Given the description of an element on the screen output the (x, y) to click on. 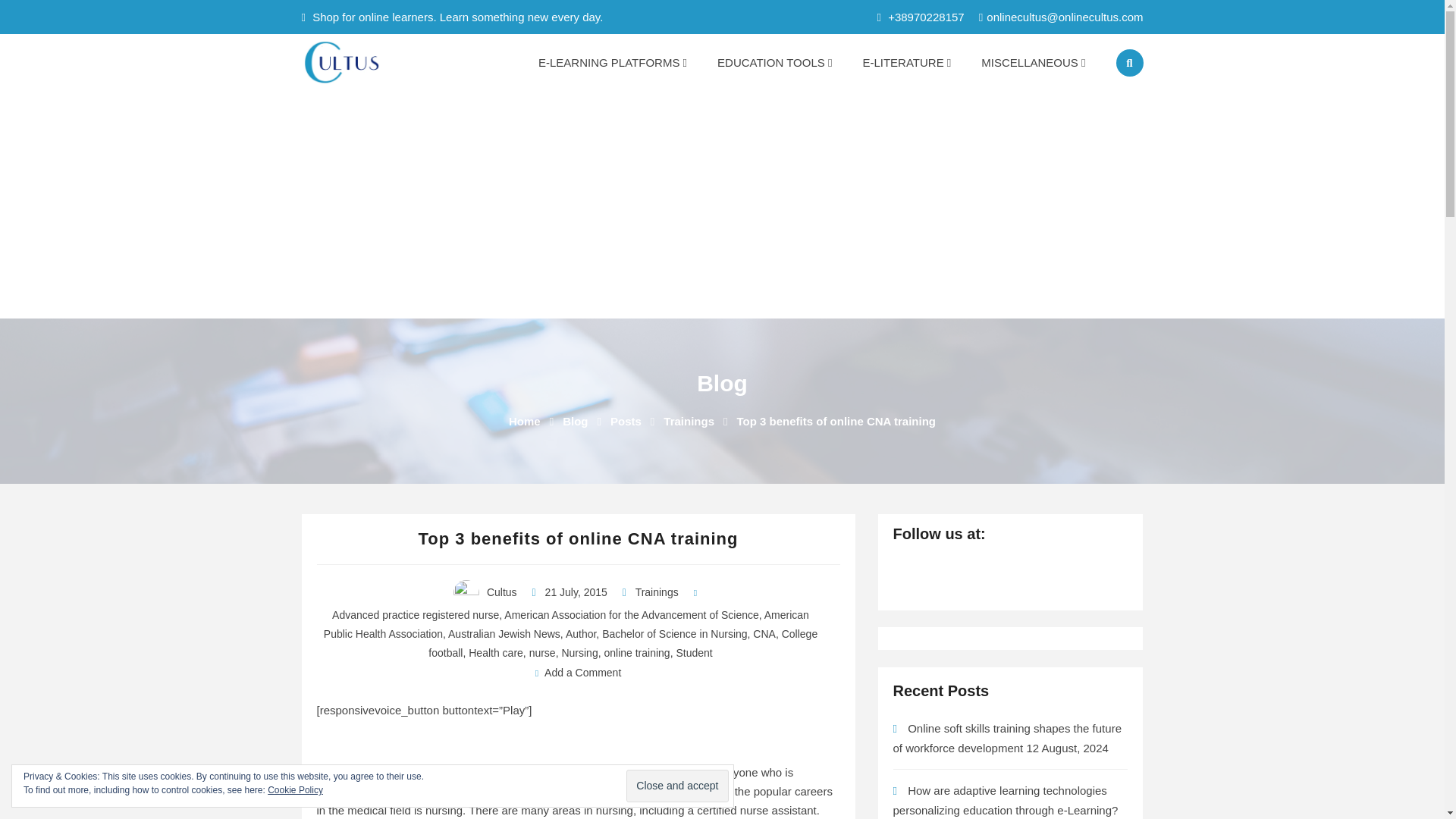
EDUCATION TOOLS (774, 62)
E-LEARNING PLATFORMS (611, 62)
E-LITERATURE (906, 62)
Education tools (774, 62)
E-learning platforms (611, 62)
Close and accept (677, 785)
